Given the description of an element on the screen output the (x, y) to click on. 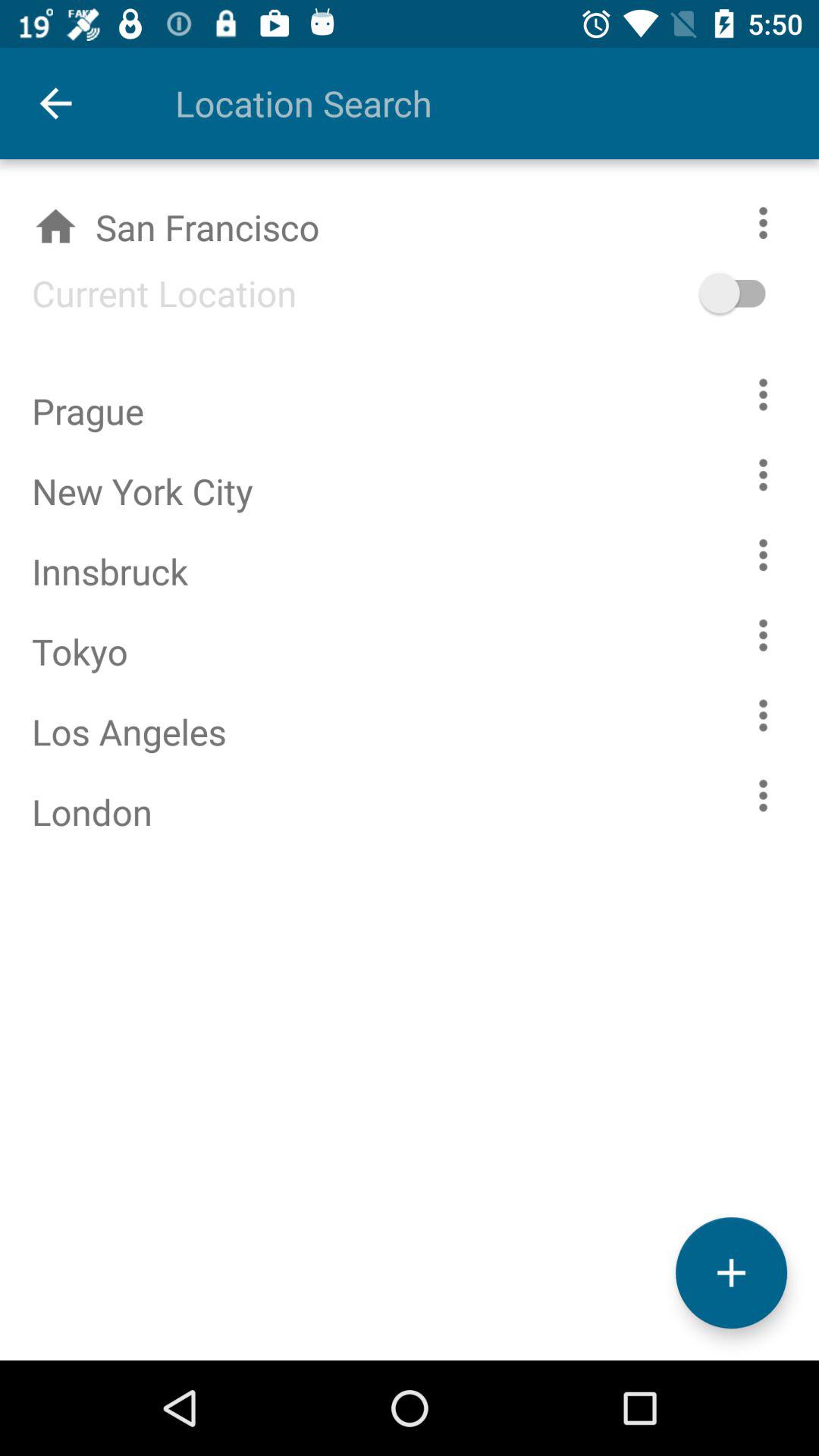
view content (763, 554)
